Given the description of an element on the screen output the (x, y) to click on. 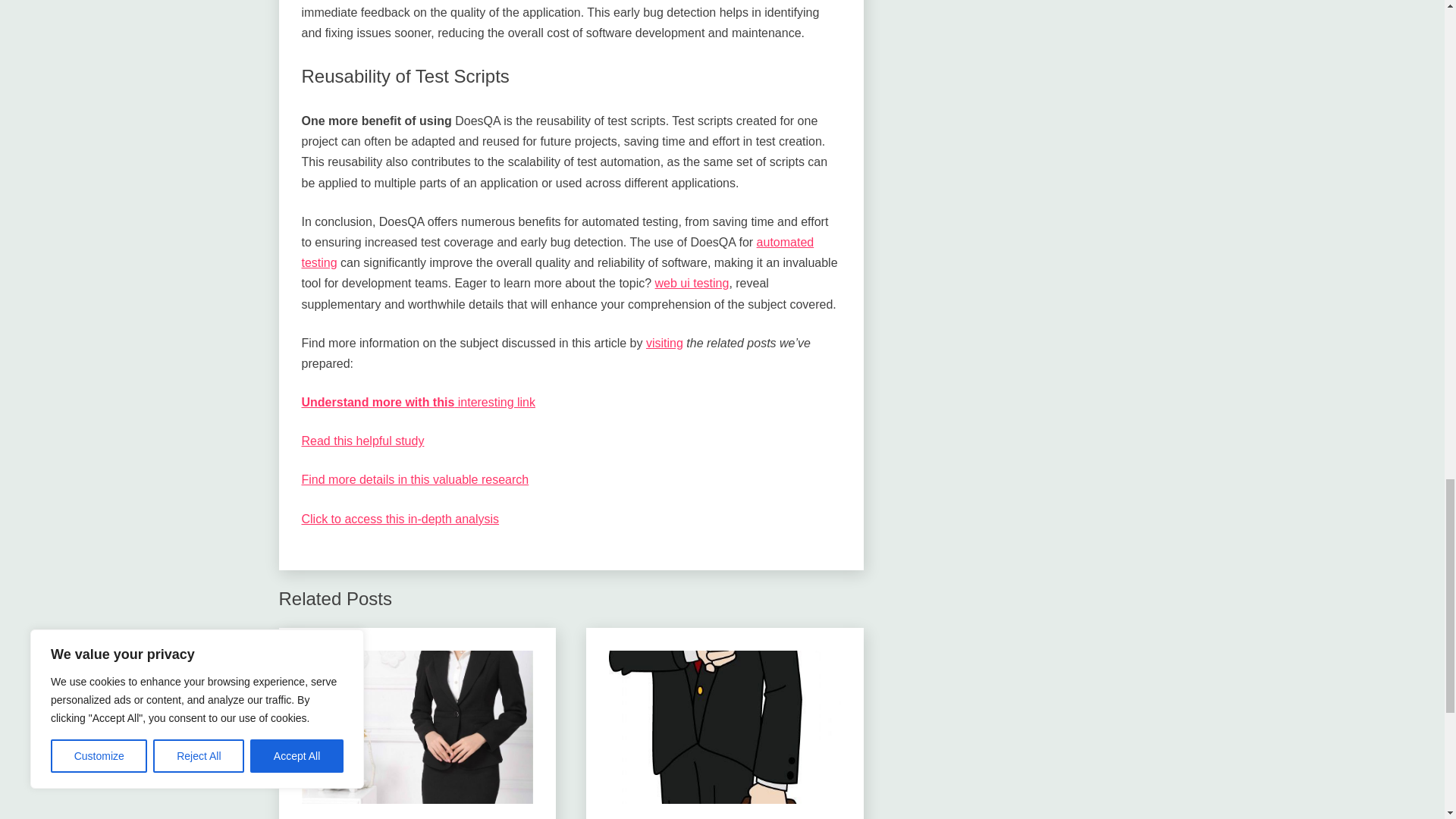
Click to access this in-depth analysis (400, 518)
Read this helpful study (363, 440)
web ui testing (692, 282)
Find more details in this valuable research (415, 479)
visiting (664, 342)
automated testing (557, 252)
Understand more with this interesting link (418, 401)
